Given the description of an element on the screen output the (x, y) to click on. 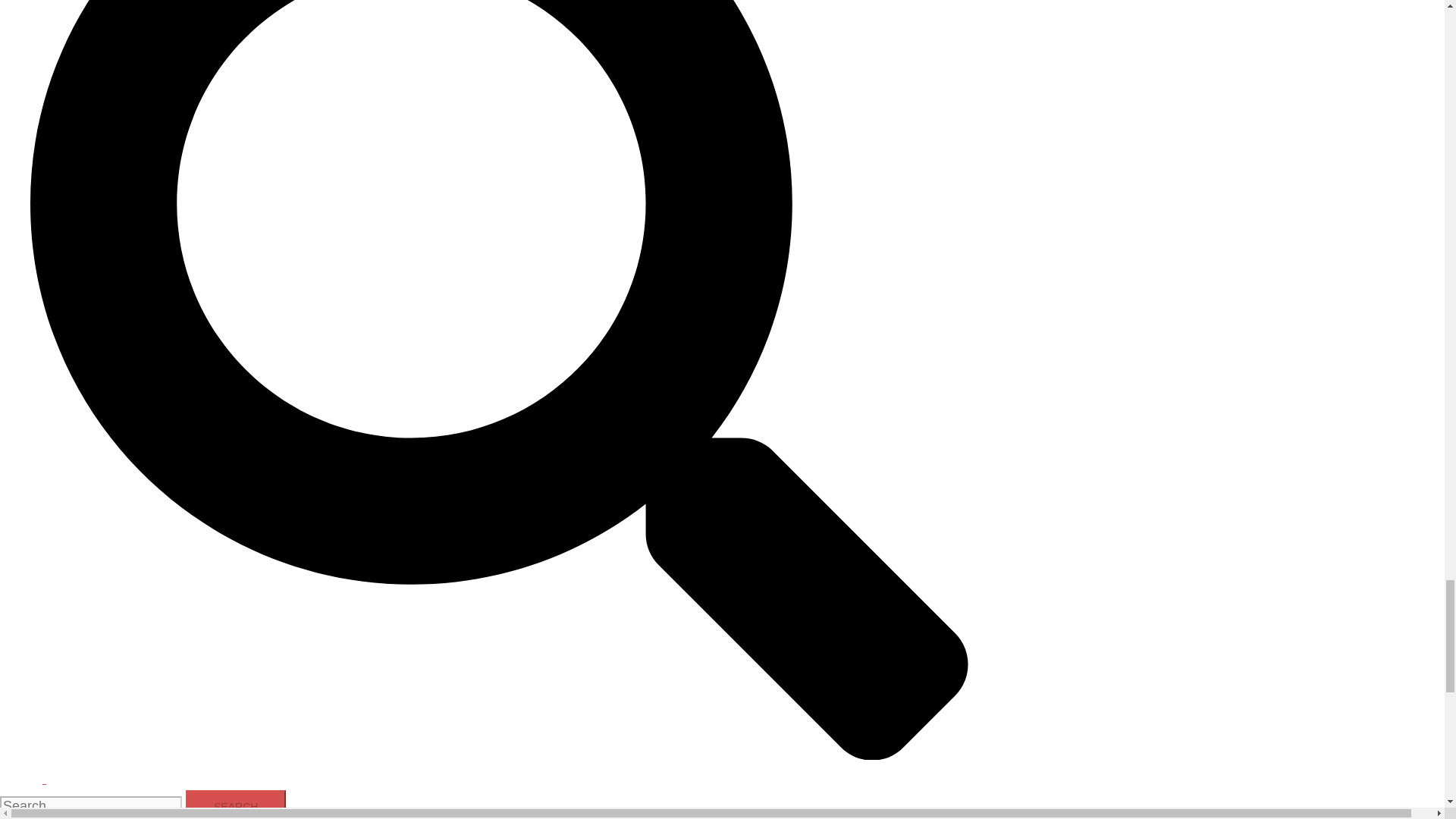
Search (235, 804)
Search (235, 804)
Search (235, 804)
Search (499, 766)
